Given the description of an element on the screen output the (x, y) to click on. 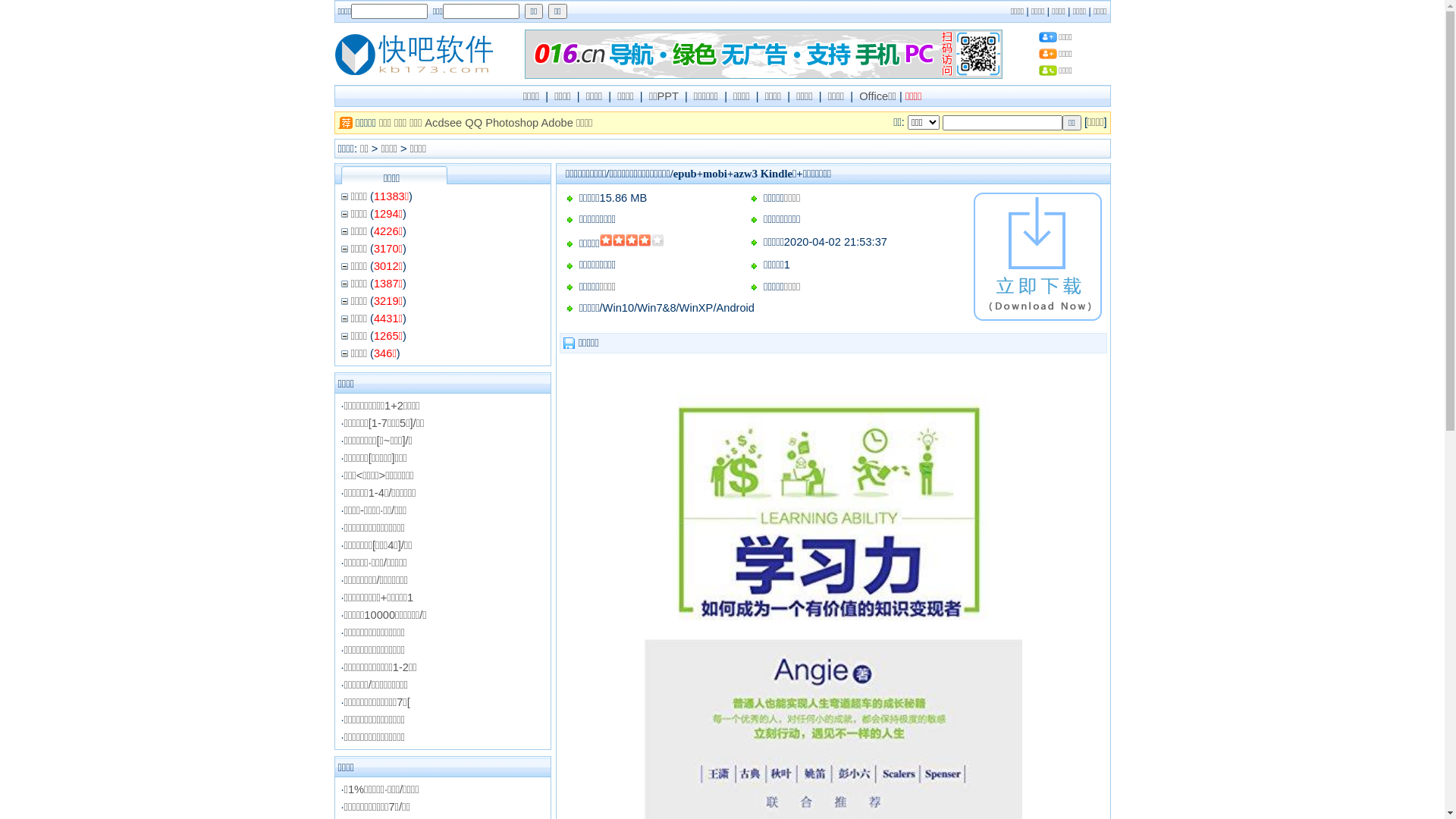
QQ Element type: text (473, 122)
Adobe Element type: text (557, 122)
Acdsee Element type: text (442, 122)
Photoshop Element type: text (511, 122)
